Given the description of an element on the screen output the (x, y) to click on. 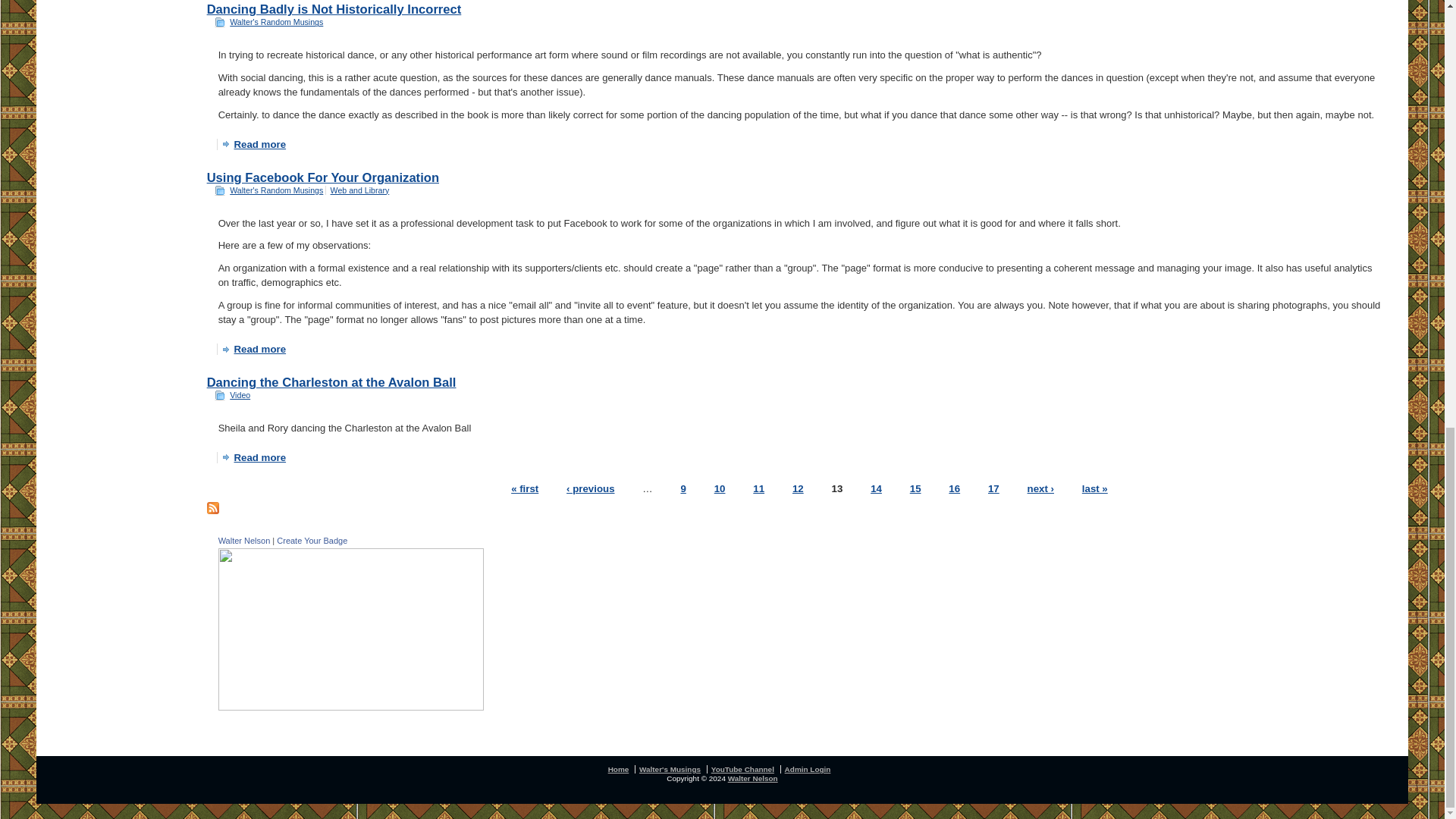
Video (240, 394)
Dancing Badly is Not Historically Incorrect (333, 9)
Walter's Random Musings (276, 21)
Using Facebook For Your Organization (322, 176)
Read more (254, 348)
Web and Library (360, 189)
Dancing the Charleston at the Avalon Ball (331, 382)
Walter's Random Musings (276, 189)
Read more (254, 143)
Read more (254, 457)
